Given the description of an element on the screen output the (x, y) to click on. 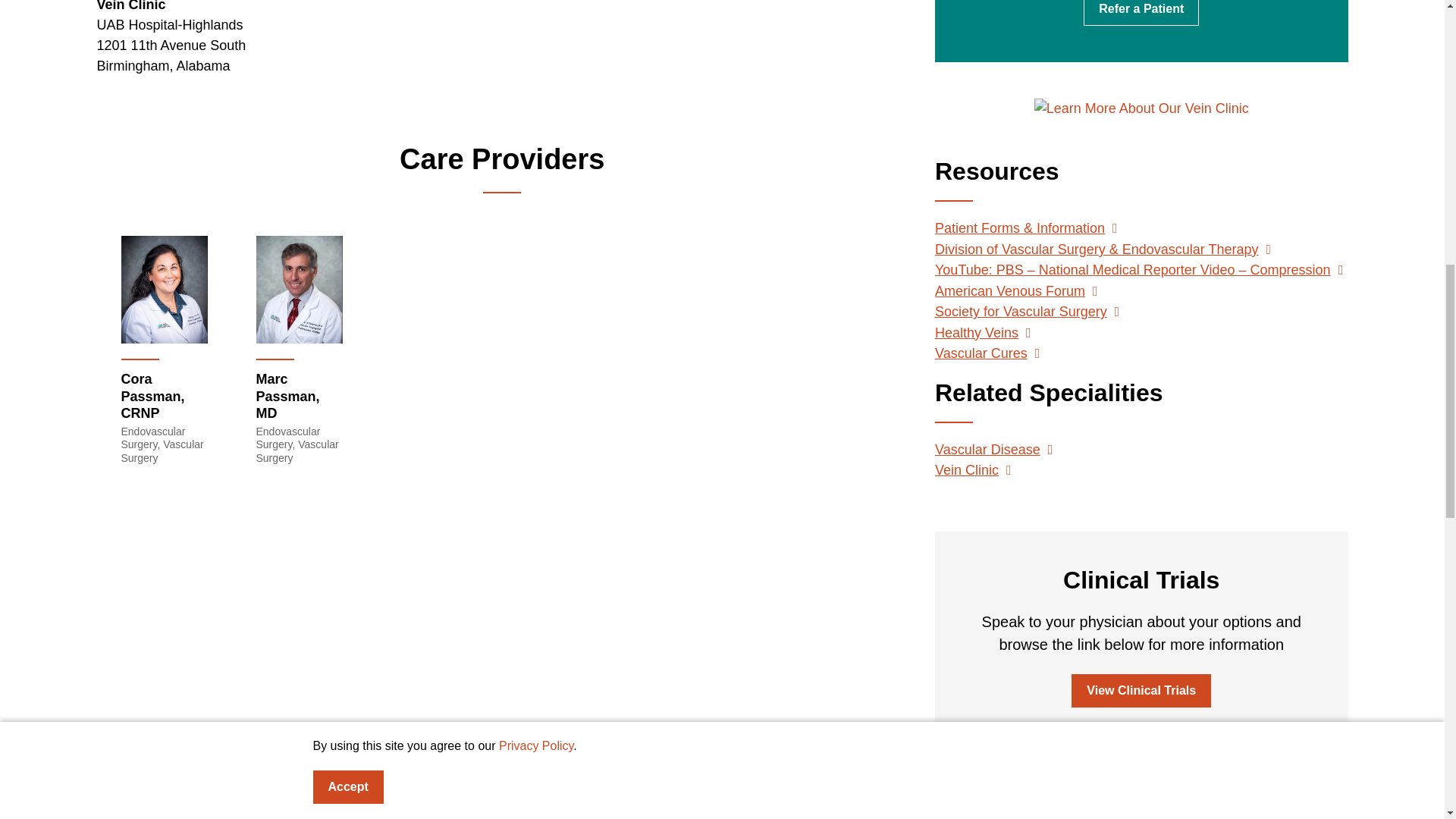
Learn More About Our Vein Clinic (1141, 108)
